Given the description of an element on the screen output the (x, y) to click on. 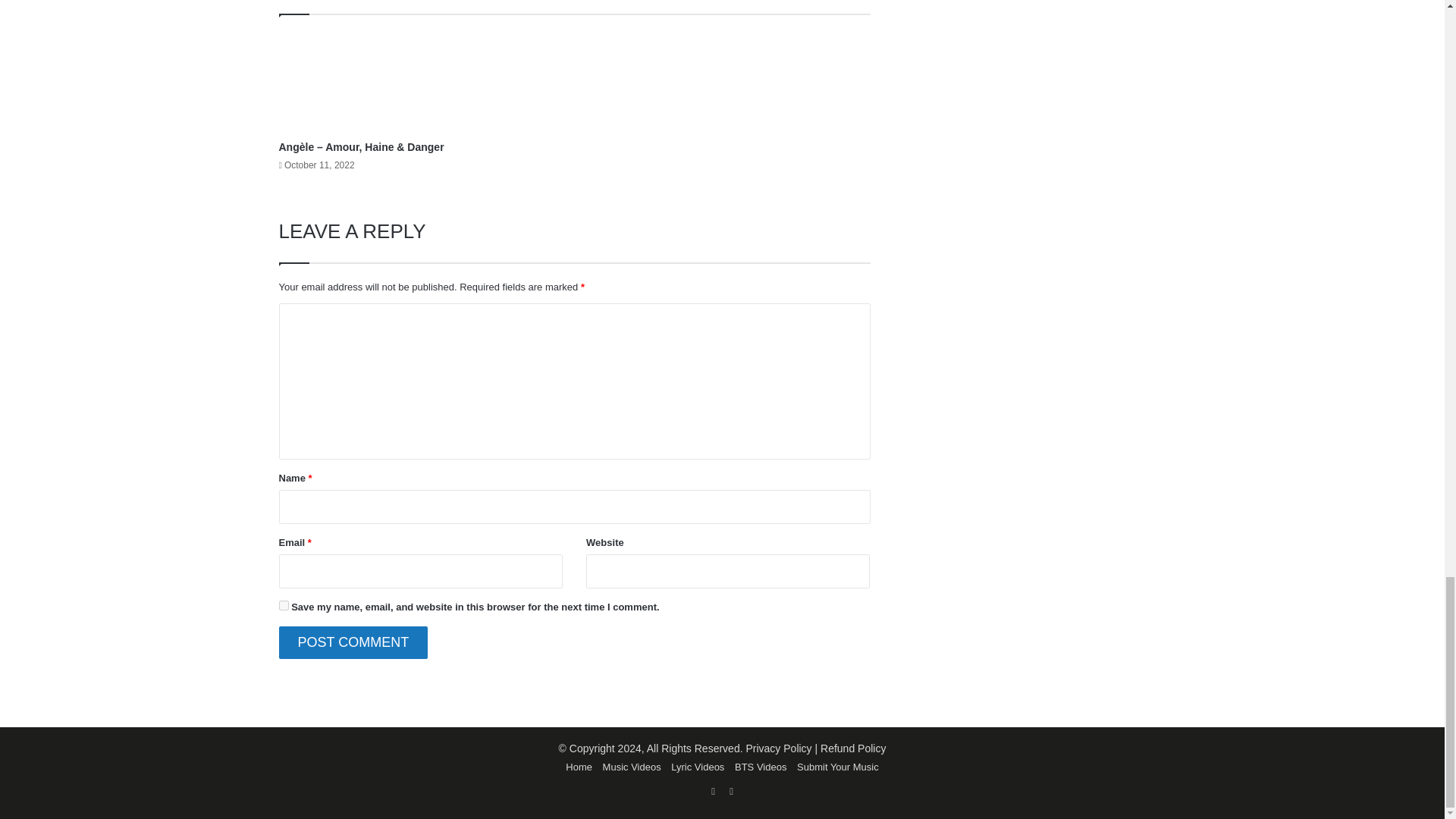
Lyric Videos (697, 767)
Music Videos (631, 767)
Post Comment (353, 642)
Privacy Policy (777, 748)
Refund Policy (853, 748)
Home (579, 767)
yes (283, 605)
Post Comment (353, 642)
BTS Videos (760, 767)
